Given the description of an element on the screen output the (x, y) to click on. 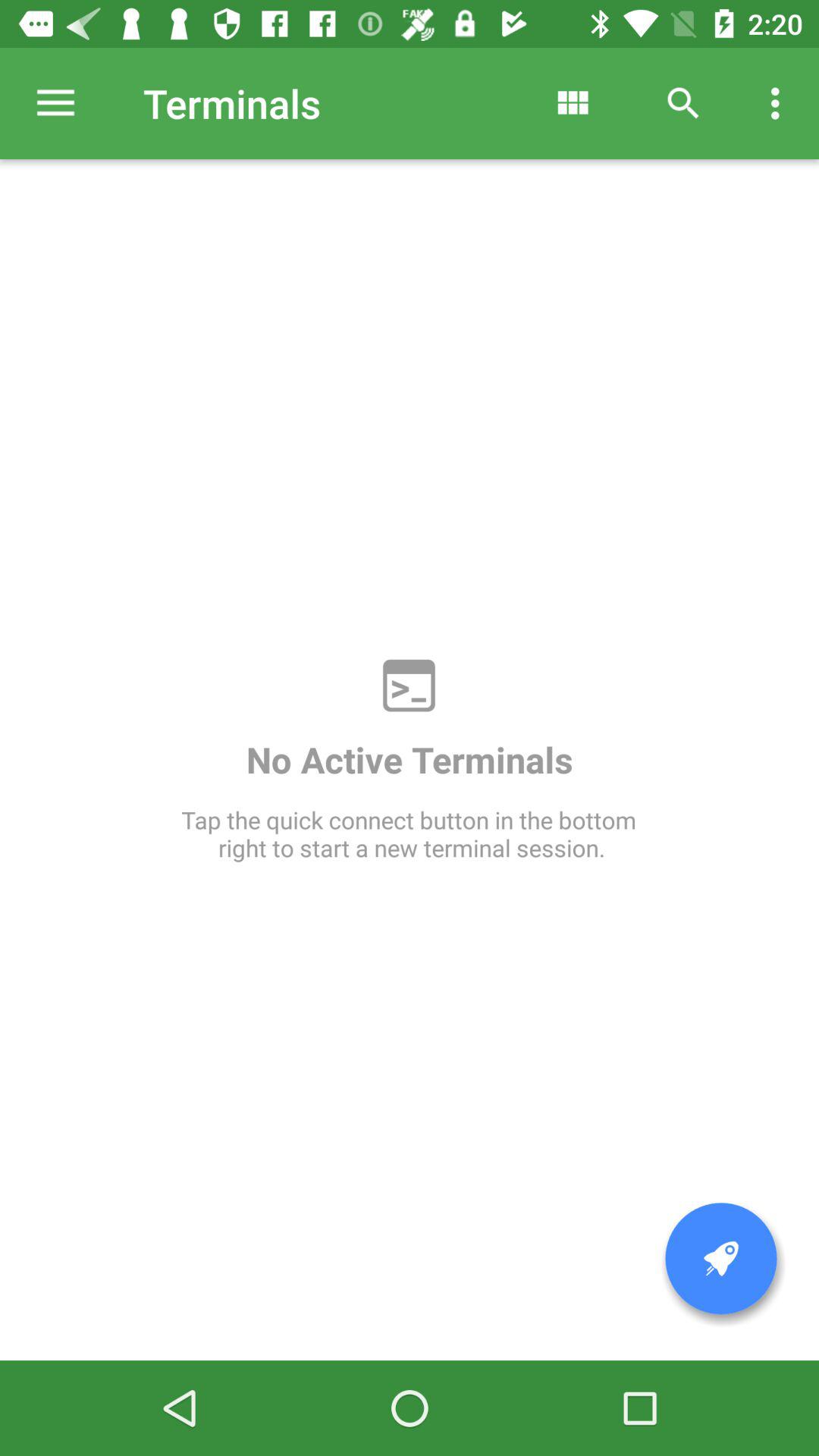
tap the icon above tap the quick item (683, 103)
